Given the description of an element on the screen output the (x, y) to click on. 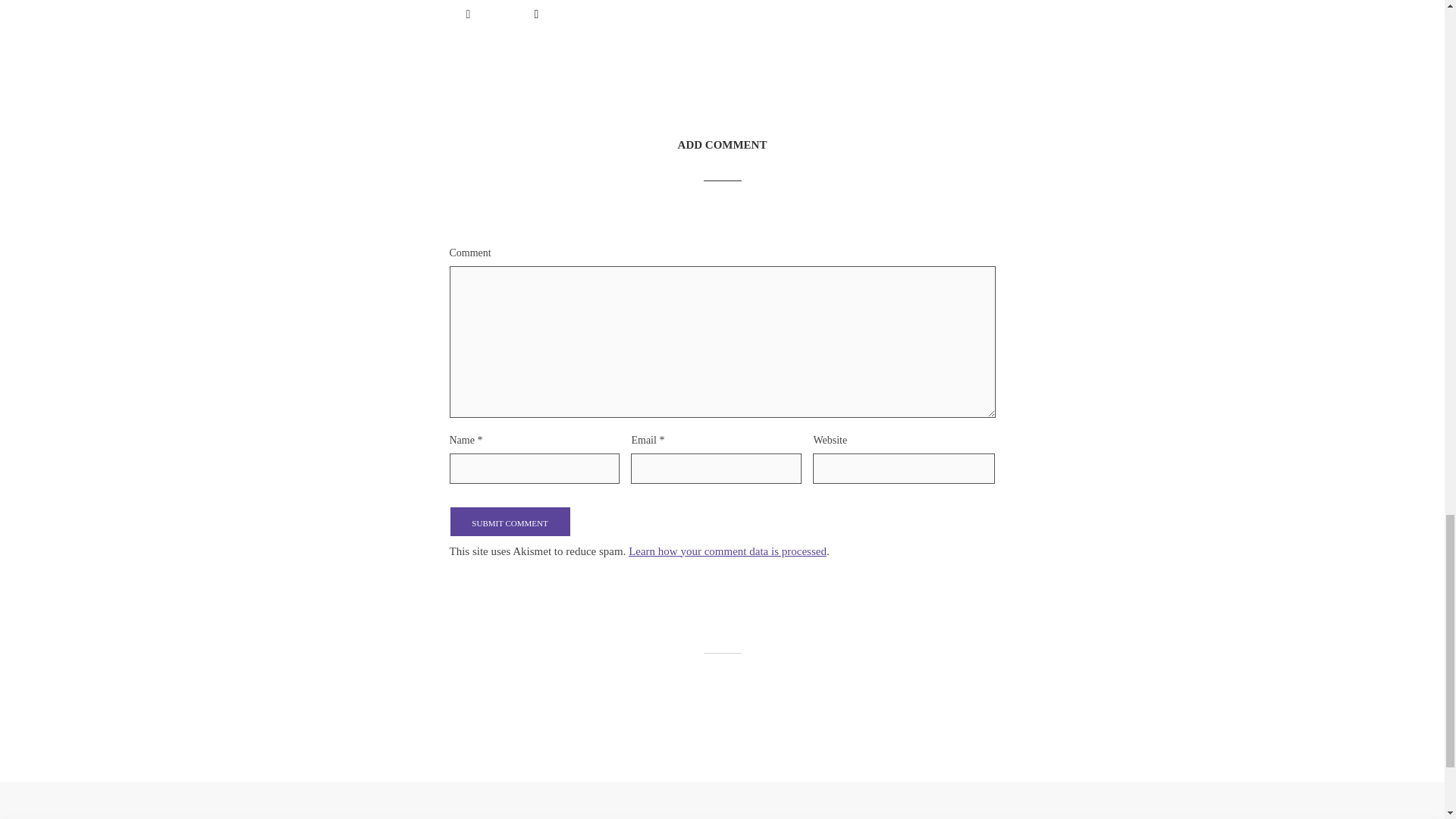
Submit Comment (509, 521)
Learn how your comment data is processed (727, 551)
Submit Comment (509, 521)
